Given the description of an element on the screen output the (x, y) to click on. 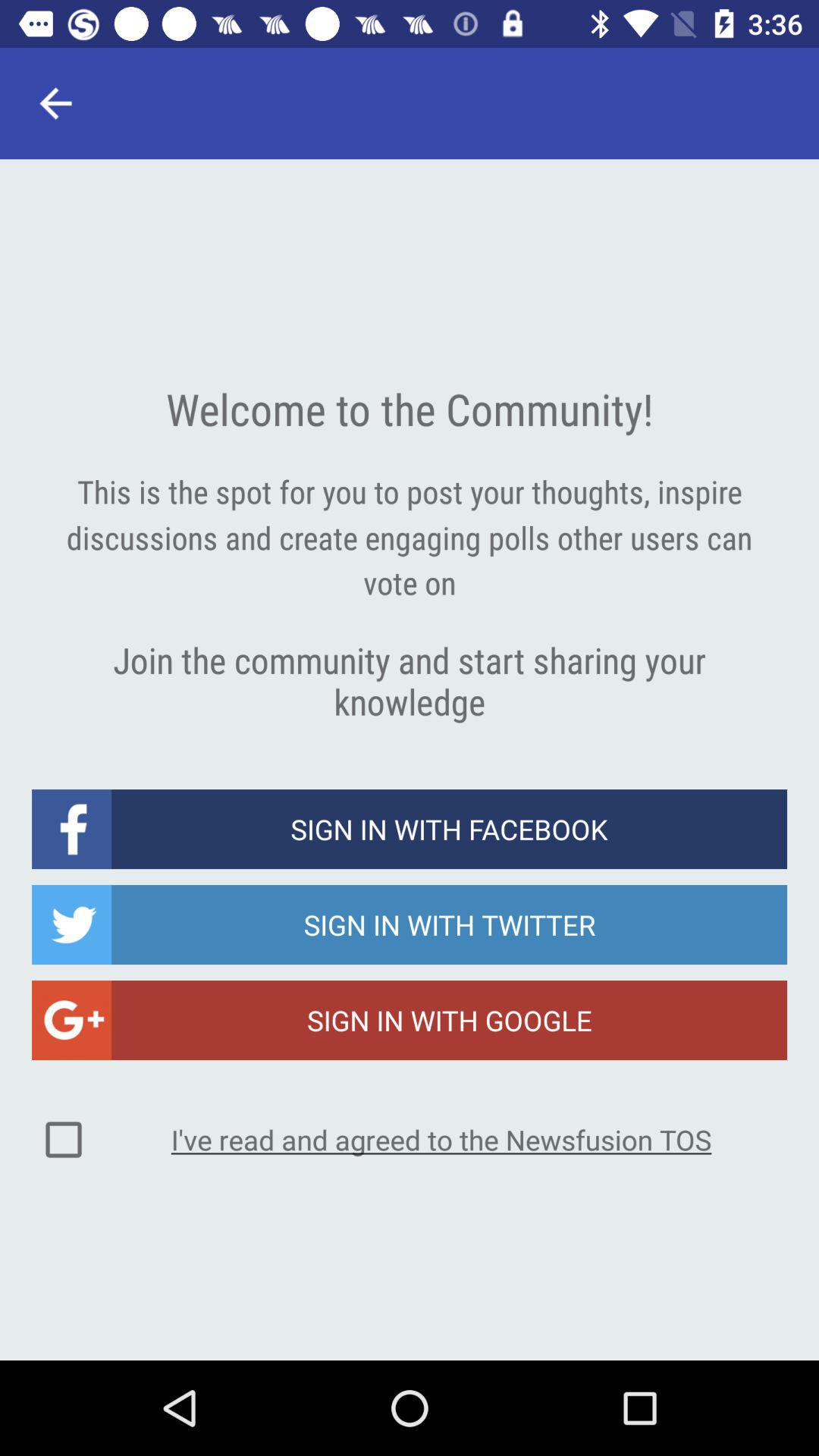
flip until the i ve read item (441, 1139)
